Given the description of an element on the screen output the (x, y) to click on. 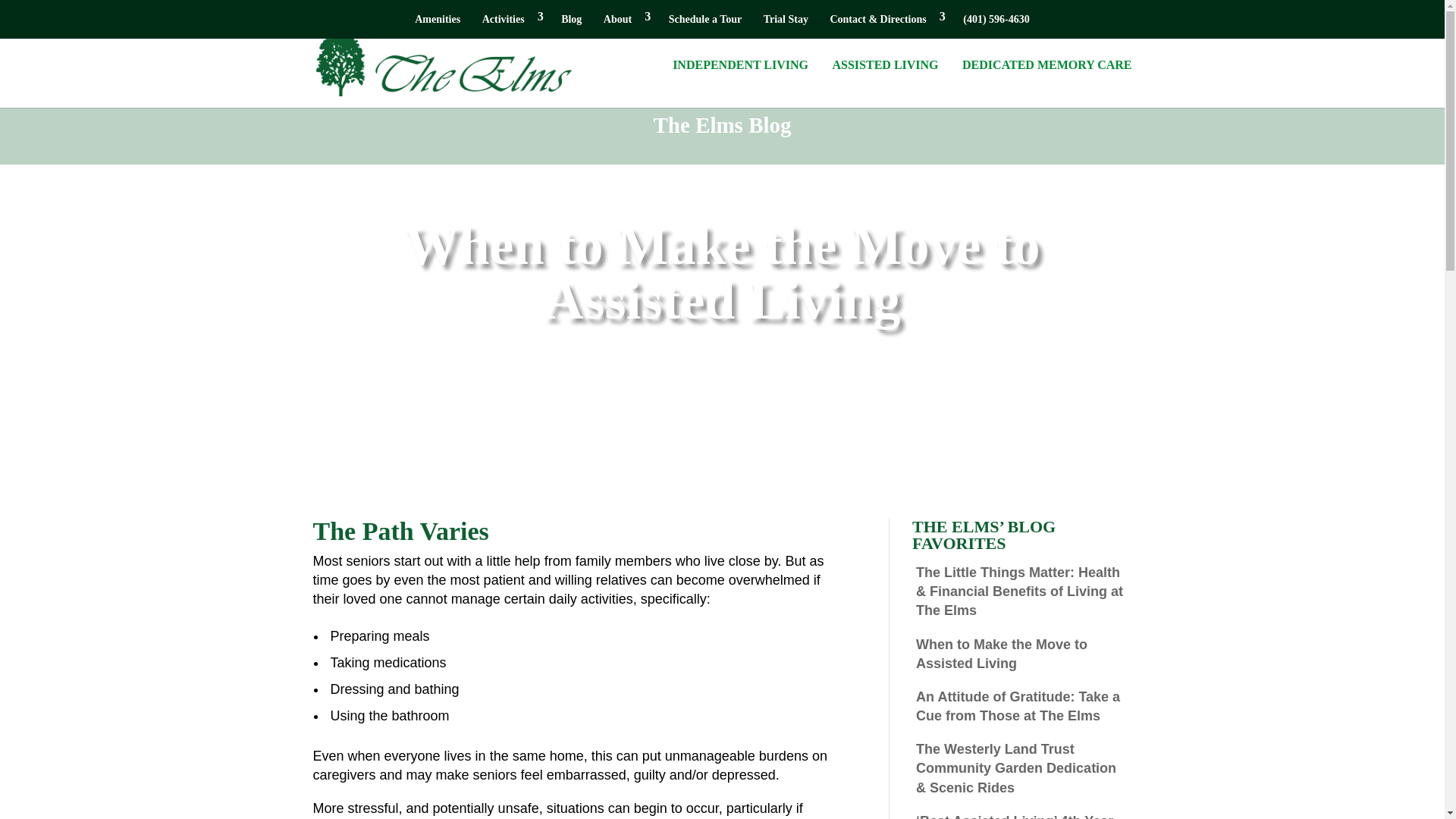
INDEPENDENT LIVING (740, 81)
ASSISTED LIVING (885, 81)
Activities (510, 23)
An Attitude of Gratitude: Take a Cue from Those at The Elms (1017, 706)
Trial Stay (785, 23)
About (625, 23)
Schedule a Tour (704, 23)
DEDICATED MEMORY CARE (1046, 81)
Amenities (437, 23)
When to Make the Move to Assisted Living (1001, 653)
